Given the description of an element on the screen output the (x, y) to click on. 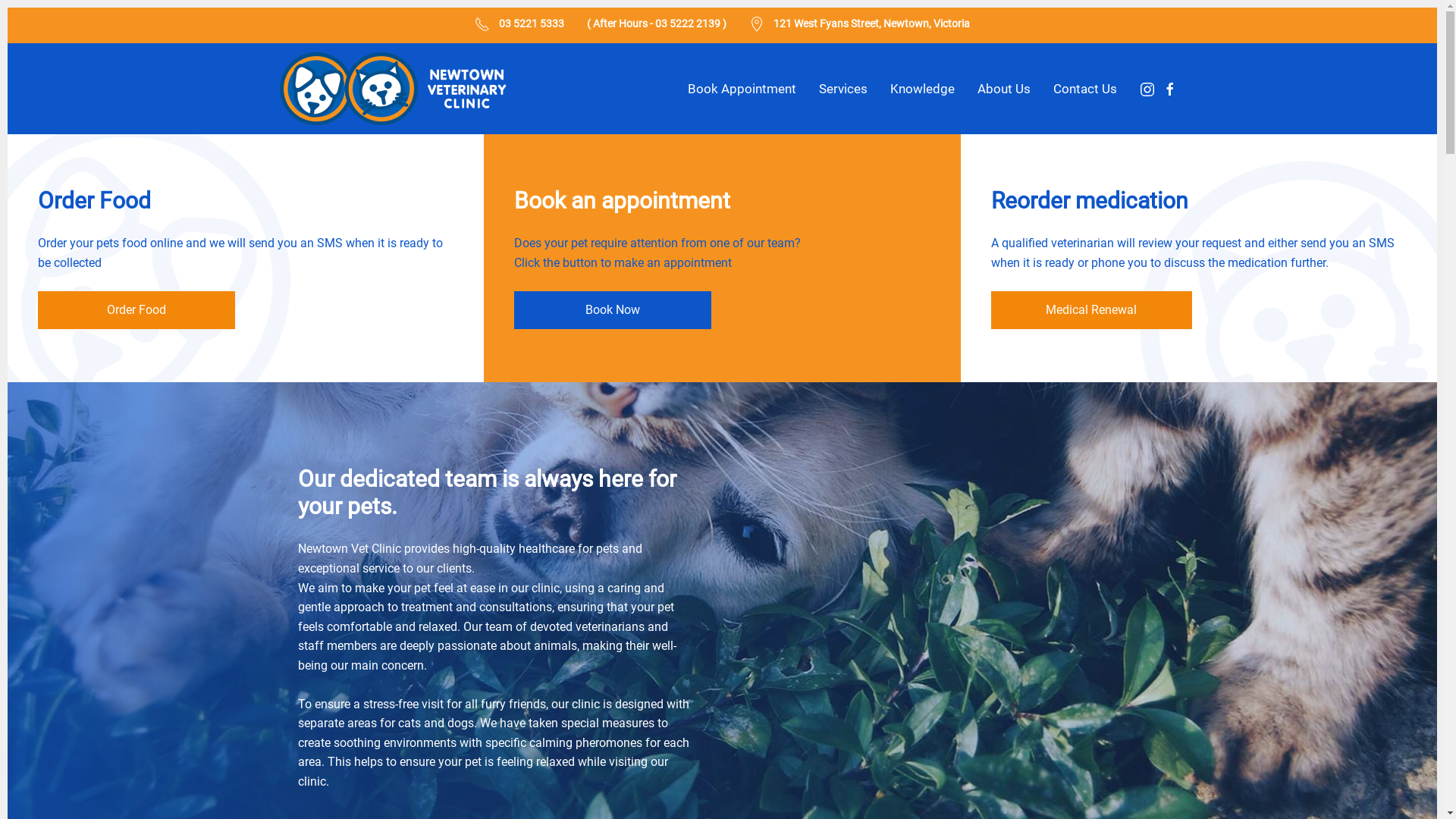
121 West Fyans Street, Newtown, Victoria Element type: text (871, 23)
Contact Us Element type: text (1084, 88)
Services Element type: text (843, 88)
03 5221 5333 Element type: text (531, 23)
Book Now Element type: text (612, 310)
Order Food Element type: text (136, 310)
( After Hours - 03 5222 2139 ) Element type: text (656, 23)
Medical Renewal Element type: text (1091, 310)
About Us Element type: text (1002, 88)
Book Appointment Element type: text (741, 88)
Knowledge Element type: text (922, 88)
